Given the description of an element on the screen output the (x, y) to click on. 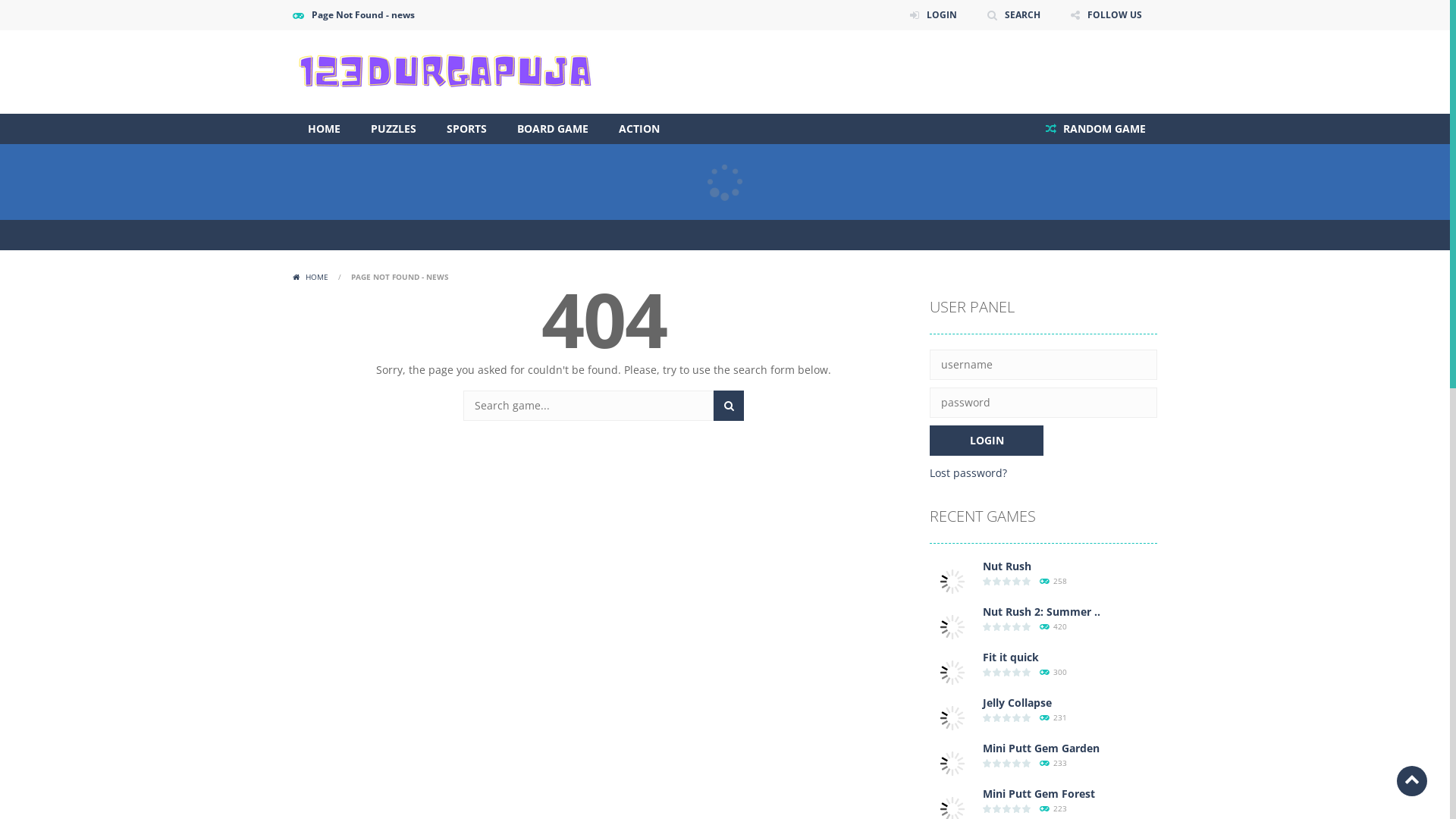
0 votes, average: 0.00 out of 5 Element type: hover (1027, 626)
0 votes, average: 0.00 out of 5 Element type: hover (1007, 717)
0 votes, average: 0.00 out of 5 Element type: hover (987, 581)
news Element type: hover (444, 70)
Mini Putt Gem Forest Element type: text (1038, 793)
0 votes, average: 0.00 out of 5 Element type: hover (987, 808)
0 votes, average: 0.00 out of 5 Element type: hover (1027, 581)
0 votes, average: 0.00 out of 5 Element type: hover (997, 808)
Login Element type: text (986, 440)
Mini Putt Gem Forest Element type: hover (952, 807)
0 votes, average: 0.00 out of 5 Element type: hover (1017, 763)
Fit it quick Element type: hover (952, 671)
0 votes, average: 0.00 out of 5 Element type: hover (1027, 672)
0 votes, average: 0.00 out of 5 Element type: hover (1027, 763)
Back to Top Element type: hover (1411, 780)
LOGIN Element type: text (933, 15)
PUZZLES Element type: text (393, 128)
SEARCH Element type: text (1013, 15)
0 votes, average: 0.00 out of 5 Element type: hover (1017, 808)
0 votes, average: 0.00 out of 5 Element type: hover (1027, 717)
Mini Putt Gem Garden Element type: hover (952, 762)
0 votes, average: 0.00 out of 5 Element type: hover (1017, 626)
0 votes, average: 0.00 out of 5 Element type: hover (997, 581)
0 votes, average: 0.00 out of 5 Element type: hover (1017, 717)
0 votes, average: 0.00 out of 5 Element type: hover (987, 672)
0 votes, average: 0.00 out of 5 Element type: hover (997, 672)
0 votes, average: 0.00 out of 5 Element type: hover (997, 626)
SPORTS Element type: text (466, 128)
Jelly Collapse Element type: hover (952, 716)
0 votes, average: 0.00 out of 5 Element type: hover (1007, 808)
RANDOM GAME Element type: text (1095, 128)
Jelly Collapse Element type: text (1016, 702)
0 votes, average: 0.00 out of 5 Element type: hover (1027, 808)
SEARCH Element type: text (728, 405)
Nut Rush 2: Summer .. Element type: text (1041, 611)
HOME Element type: text (323, 128)
Lost password? Element type: text (968, 472)
0 votes, average: 0.00 out of 5 Element type: hover (1007, 672)
0 votes, average: 0.00 out of 5 Element type: hover (1007, 581)
0 votes, average: 0.00 out of 5 Element type: hover (987, 626)
0 votes, average: 0.00 out of 5 Element type: hover (987, 763)
HOME Element type: text (311, 276)
0 votes, average: 0.00 out of 5 Element type: hover (997, 763)
Nut Rush Element type: hover (952, 580)
0 votes, average: 0.00 out of 5 Element type: hover (997, 717)
Nut Rush 2: Summer Sprint Element type: hover (952, 625)
Nut Rush Element type: text (1006, 565)
Fit it quick Element type: text (1010, 656)
FOLLOW US Element type: text (1106, 15)
Mini Putt Gem Garden Element type: text (1040, 747)
0 votes, average: 0.00 out of 5 Element type: hover (1007, 626)
0 votes, average: 0.00 out of 5 Element type: hover (1017, 581)
ACTION Element type: text (638, 128)
0 votes, average: 0.00 out of 5 Element type: hover (1017, 672)
BOARD GAME Element type: text (552, 128)
0 votes, average: 0.00 out of 5 Element type: hover (1007, 763)
news Element type: hover (444, 71)
0 votes, average: 0.00 out of 5 Element type: hover (987, 717)
